Given the description of an element on the screen output the (x, y) to click on. 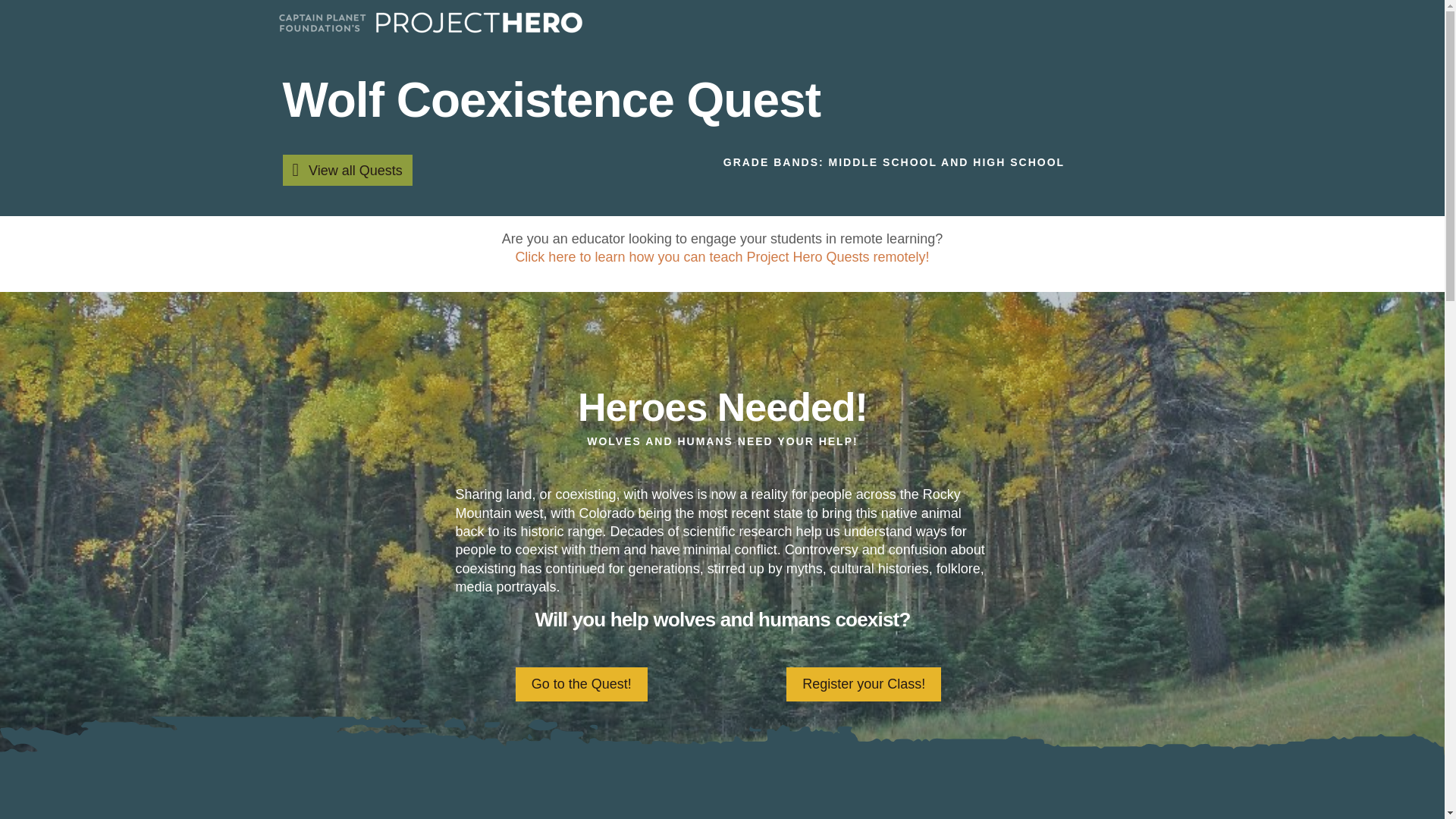
Register your Class! (863, 684)
View all Quests (347, 169)
Go to the Quest! (581, 684)
